Given the description of an element on the screen output the (x, y) to click on. 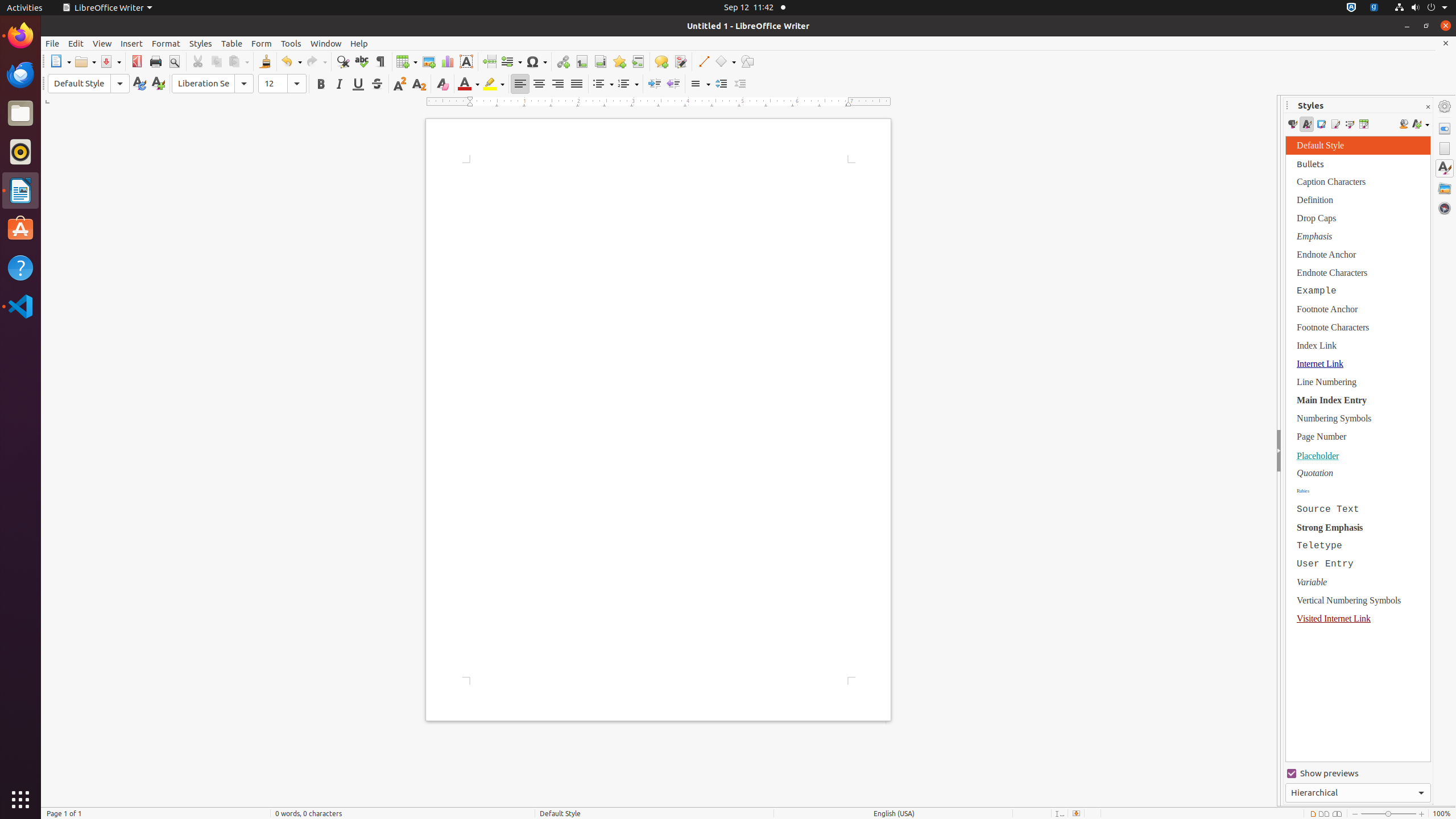
Basic Shapes Element type: push-button (724, 61)
Field Element type: push-button (510, 61)
Line Spacing Element type: push-button (699, 83)
Page Element type: radio-button (1444, 148)
Endnote Element type: push-button (599, 61)
